Given the description of an element on the screen output the (x, y) to click on. 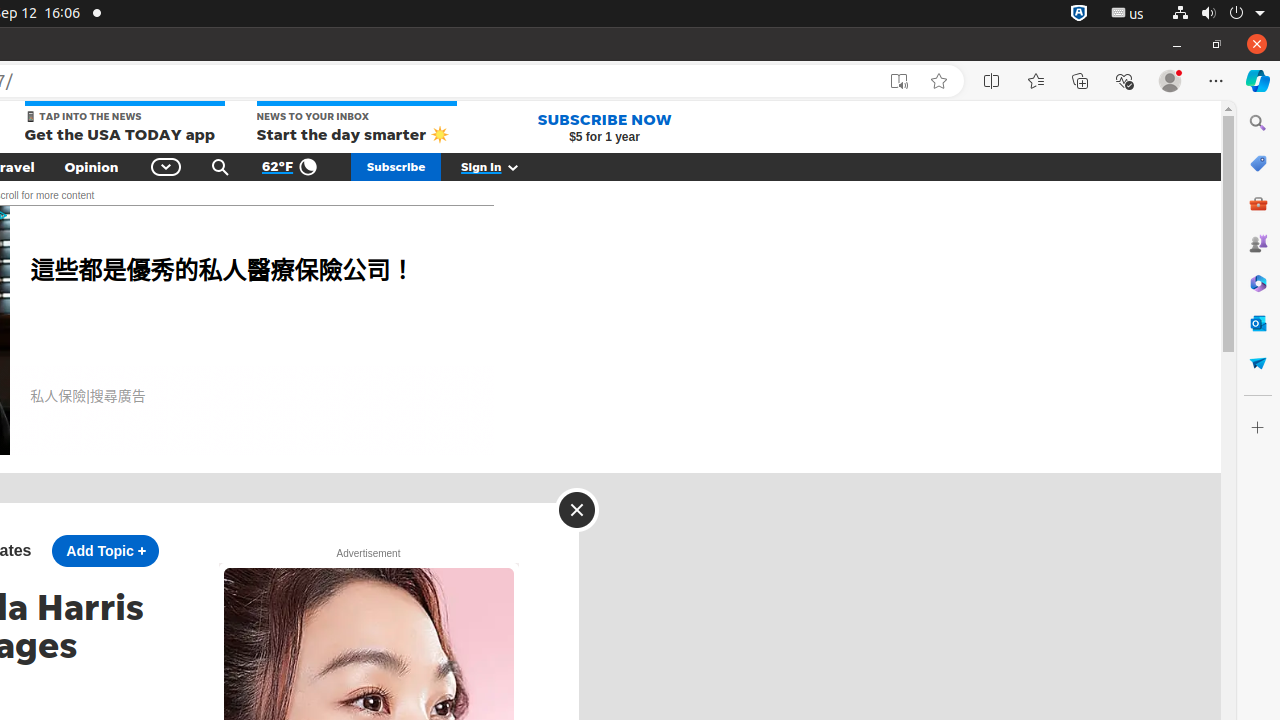
Search Element type: link (220, 167)
Profile 1 Profile, Please sign in Element type: push-button (1170, 81)
Close Element type: link (576, 510)
:1.72/StatusNotifierItem Element type: menu (1079, 13)
System Element type: menu (1218, 13)
